Given the description of an element on the screen output the (x, y) to click on. 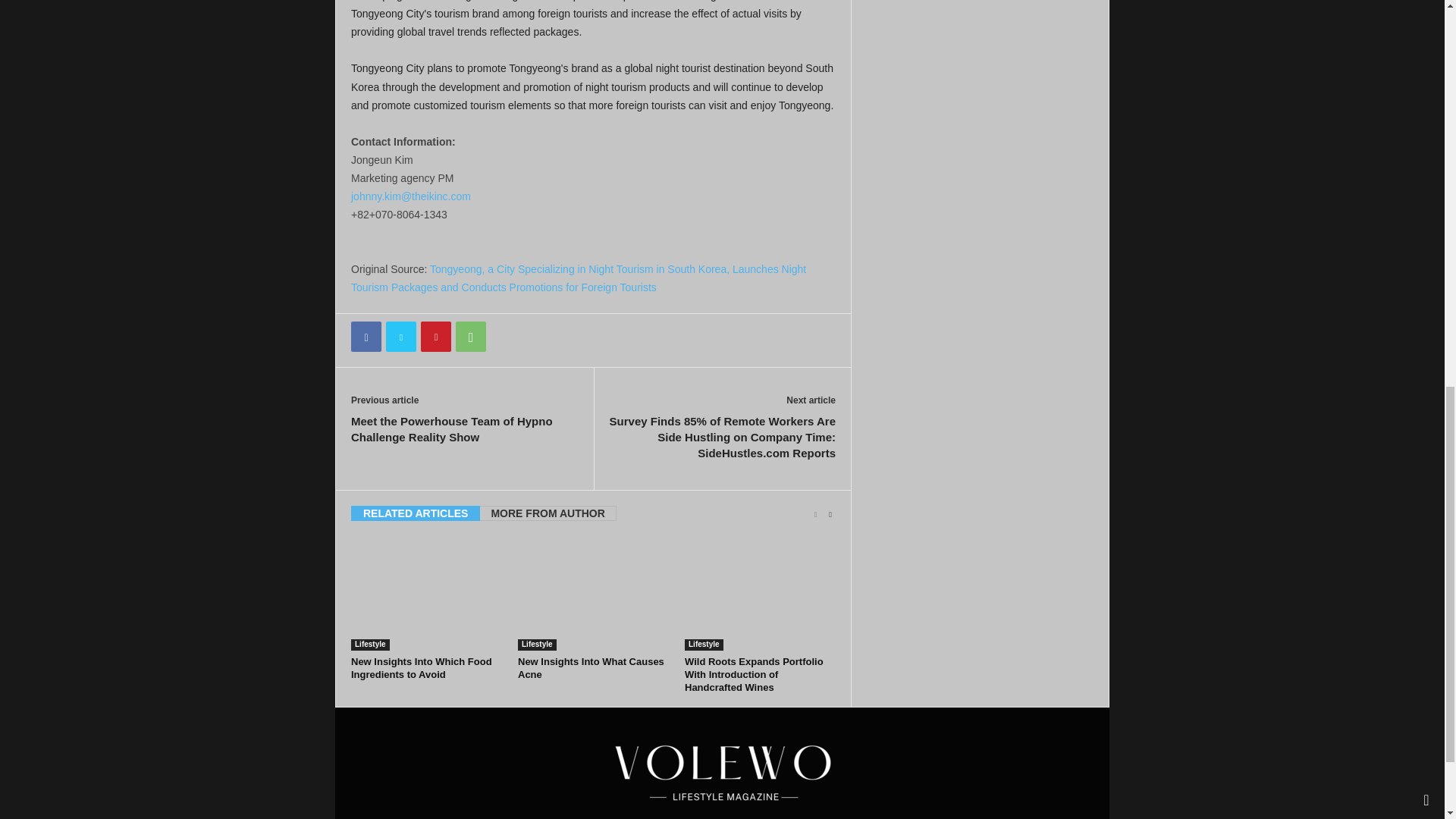
Meet the Powerhouse Team of Hypno Challenge Reality Show (464, 429)
RELATED ARTICLES (415, 513)
Twitter (400, 336)
Facebook (365, 336)
